Given the description of an element on the screen output the (x, y) to click on. 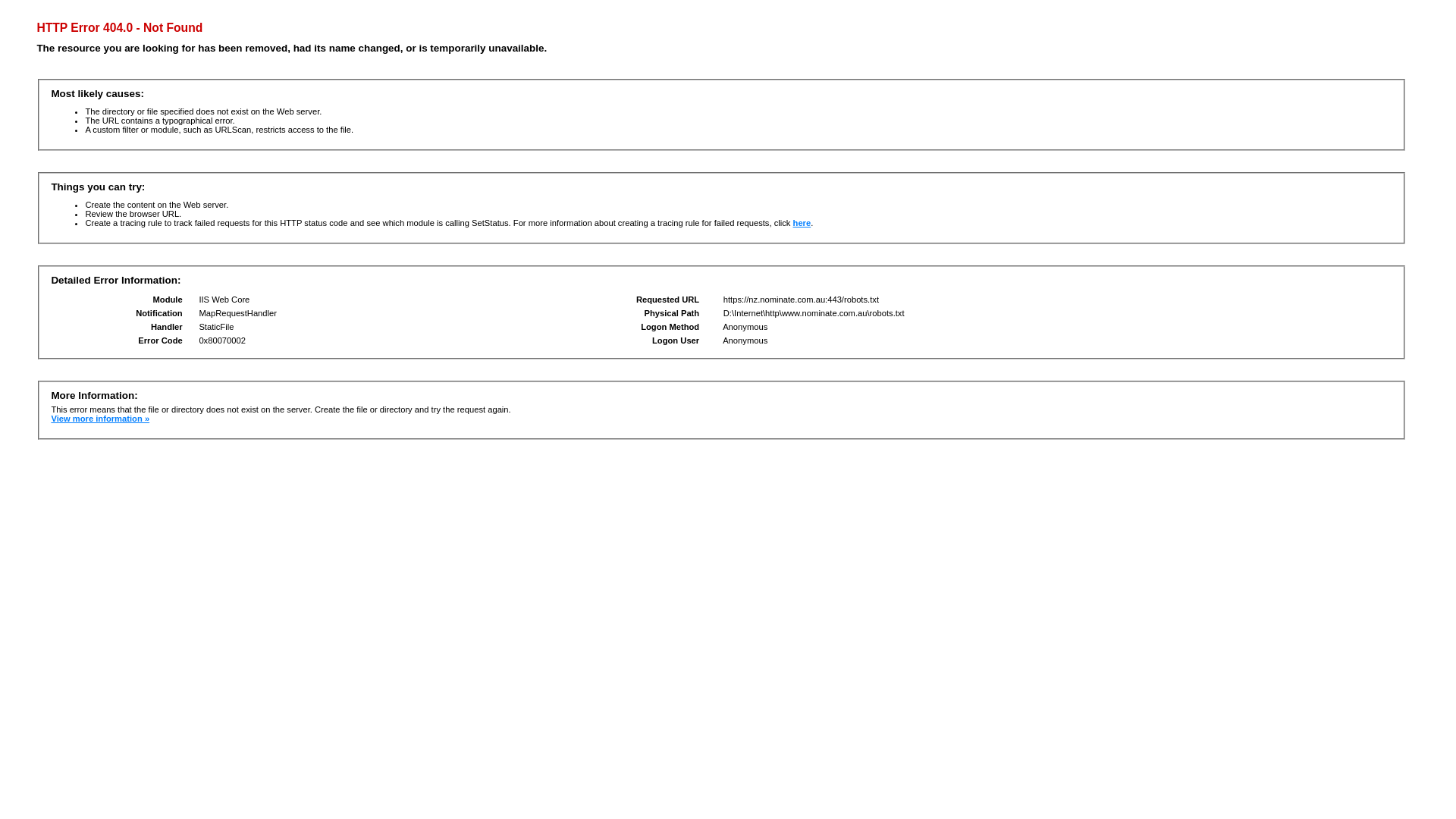
here Element type: text (802, 222)
